Given the description of an element on the screen output the (x, y) to click on. 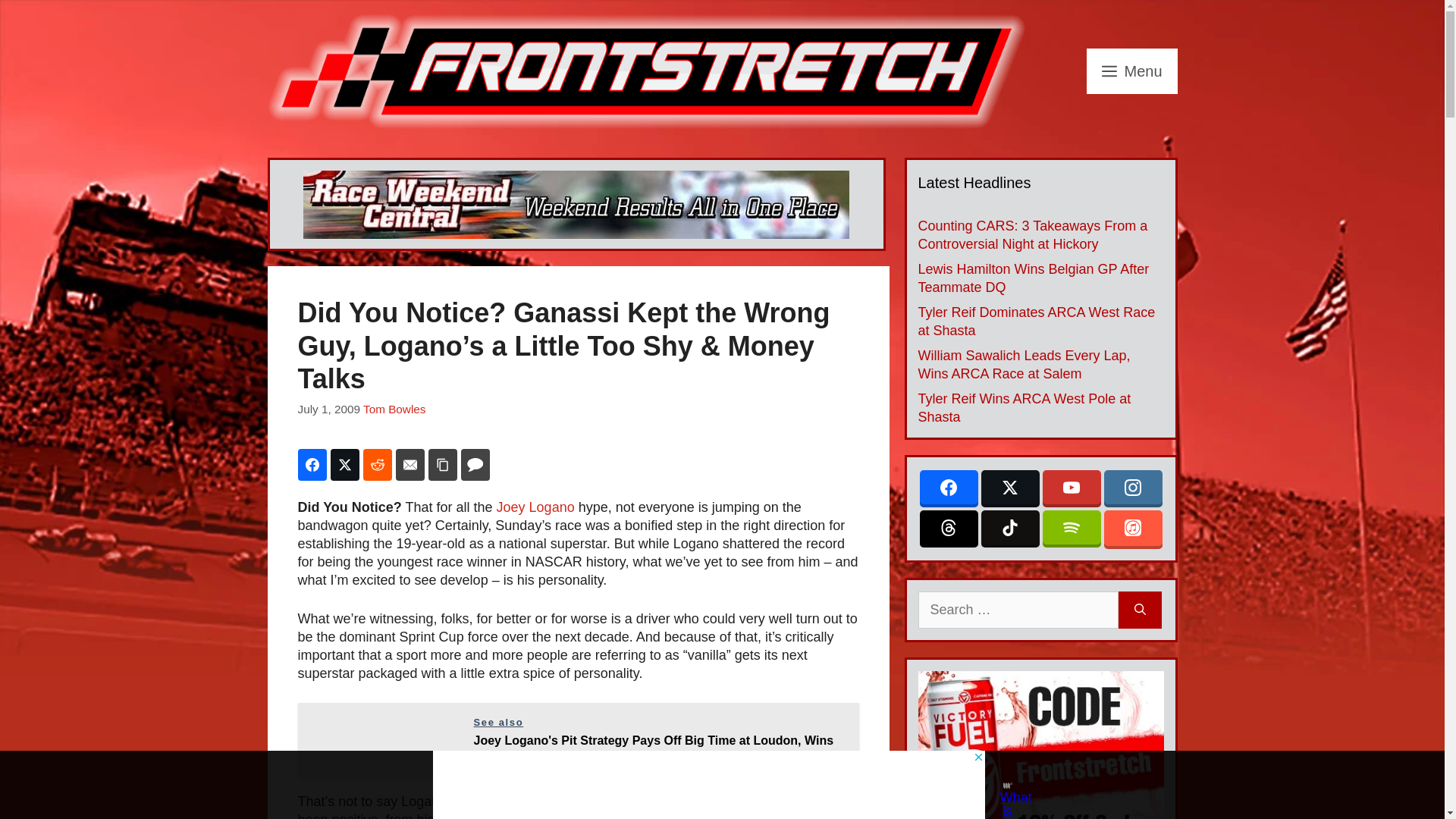
Share on Twitter (344, 464)
Joey Logano (535, 507)
Share on Comments (475, 464)
Share on Copy Link (442, 464)
Share on Facebook (311, 464)
Menu (1131, 71)
Share on Email (410, 464)
Search for: (1017, 609)
Kyle Busch (702, 815)
Share on Reddit (376, 464)
Tom Bowles (393, 408)
